Given the description of an element on the screen output the (x, y) to click on. 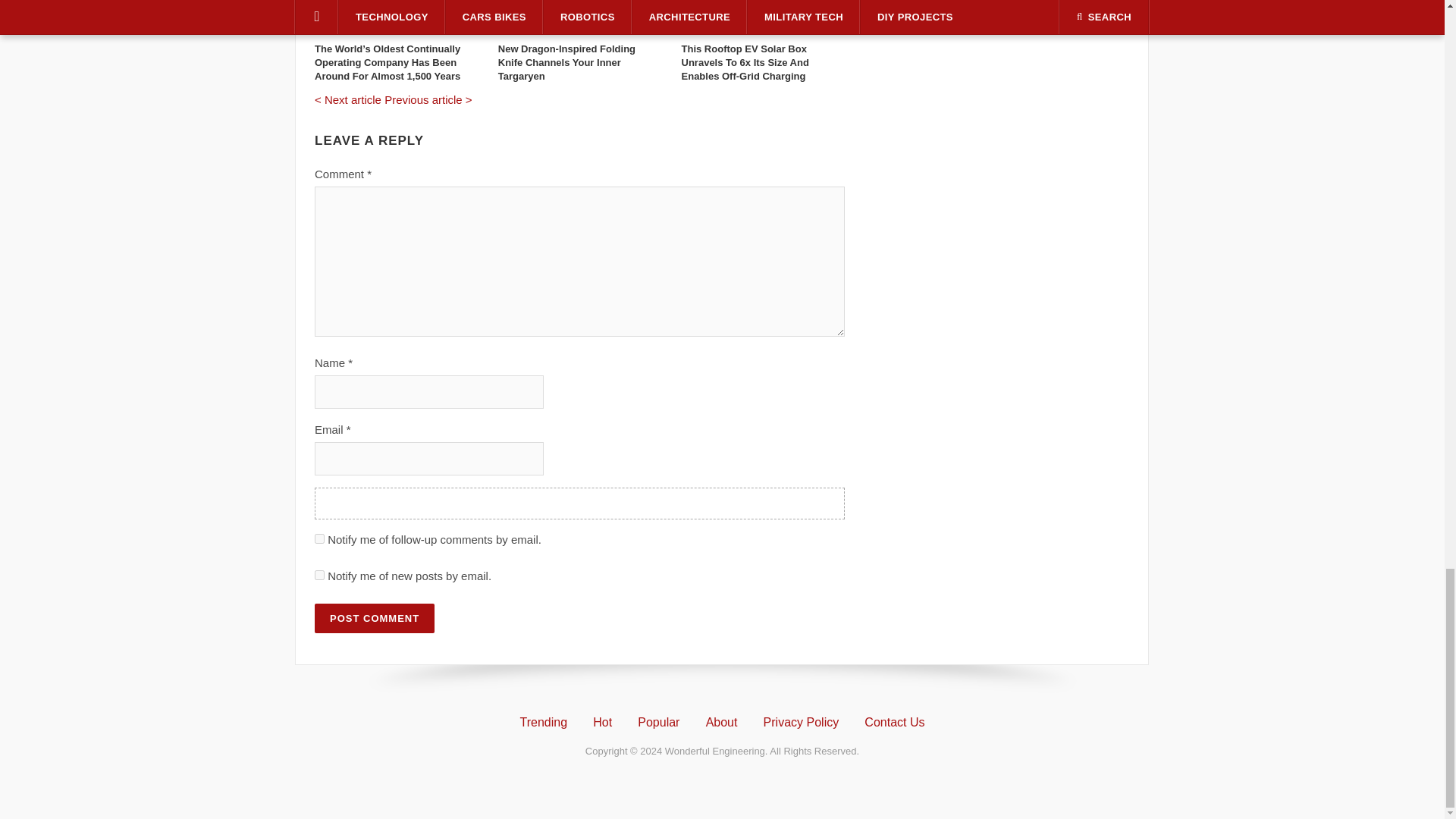
subscribe (319, 538)
Post Comment (373, 618)
subscribe (319, 574)
